Given the description of an element on the screen output the (x, y) to click on. 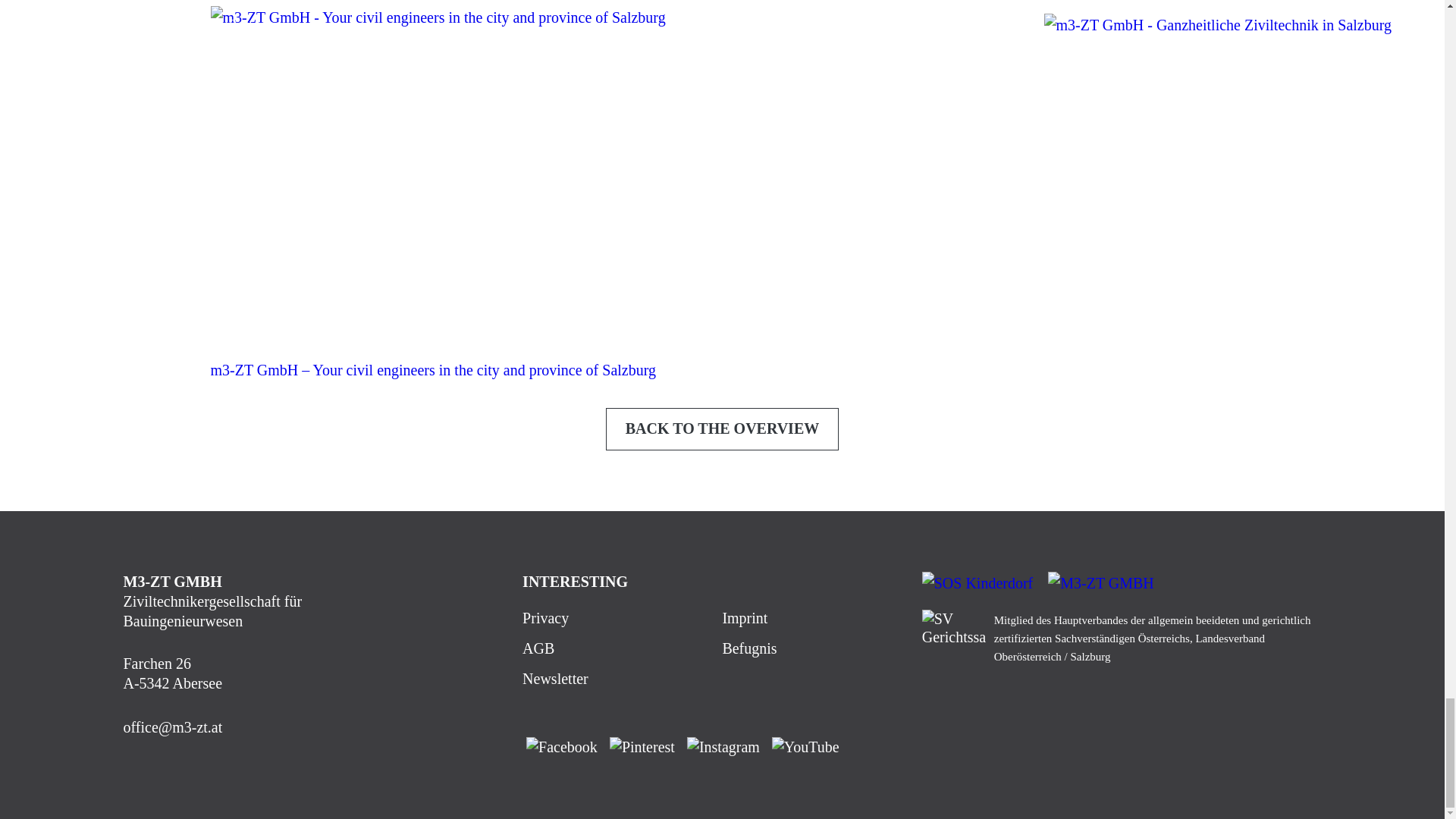
Imprint (744, 617)
Newsletter (555, 678)
BACK TO THE OVERVIEW (721, 428)
Befugnis (749, 647)
Privacy (545, 617)
AGB (538, 647)
